Given the description of an element on the screen output the (x, y) to click on. 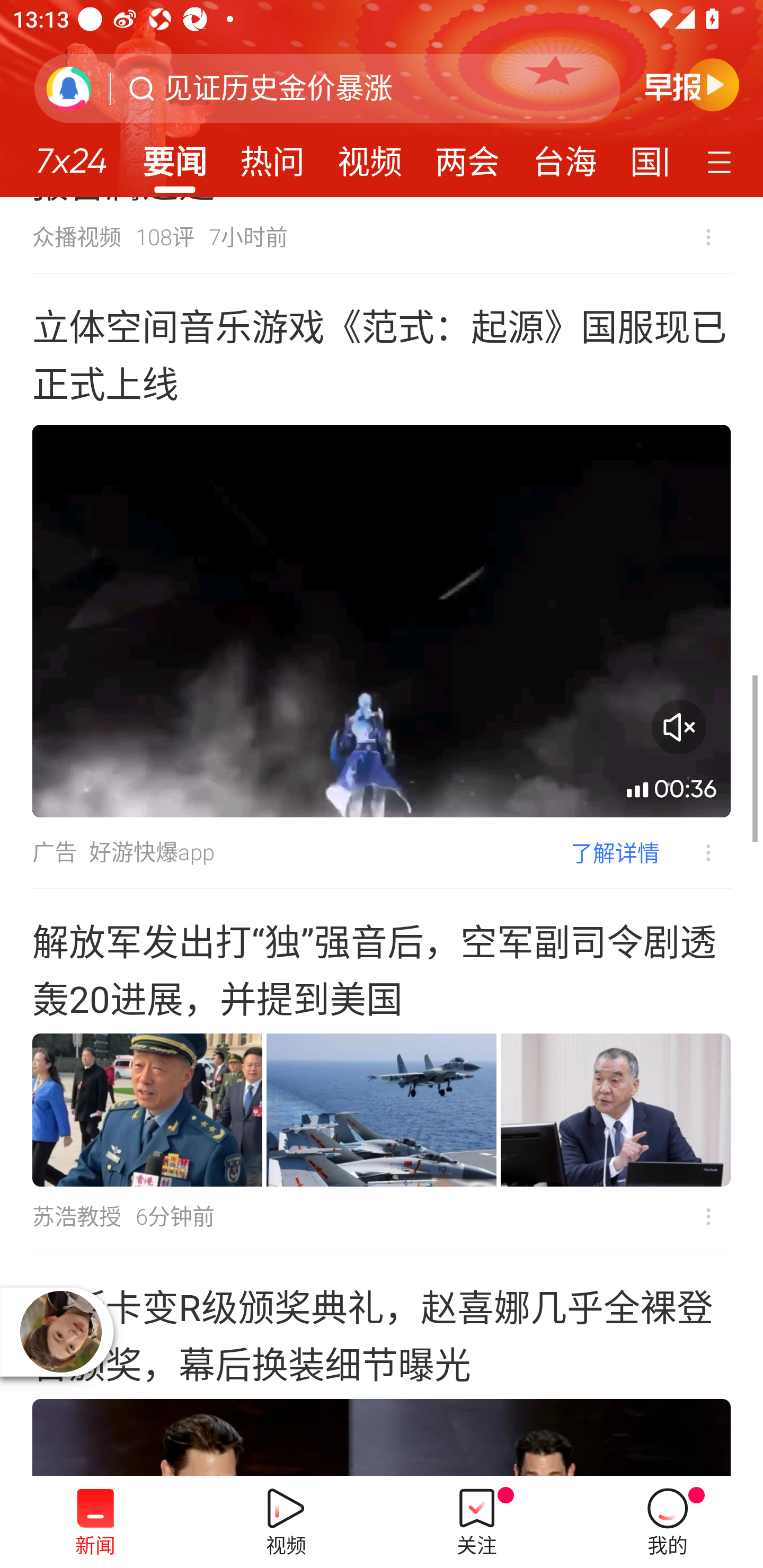
早晚报 (691, 84)
刷新 (68, 88)
见证历史金价暴涨 (278, 88)
7x24 (70, 154)
要闻 (174, 155)
热问 (272, 155)
视频 (369, 155)
两会 (466, 155)
台海 (564, 155)
 定制频道 (721, 160)
 不感兴趣 (707, 237)
00:36 音量开关 (381, 620)
音量开关 (678, 726)
 不感兴趣 (694, 852)
了解详情 (614, 852)
广告 (54, 851)
好游快爆app (151, 851)
 不感兴趣 (707, 1216)
奥斯卡变R级颁奖典礼，赵喜娜几乎全裸登台颁奖，幕后换装细节曝光 (381, 1365)
播放器 (61, 1331)
